Given the description of an element on the screen output the (x, y) to click on. 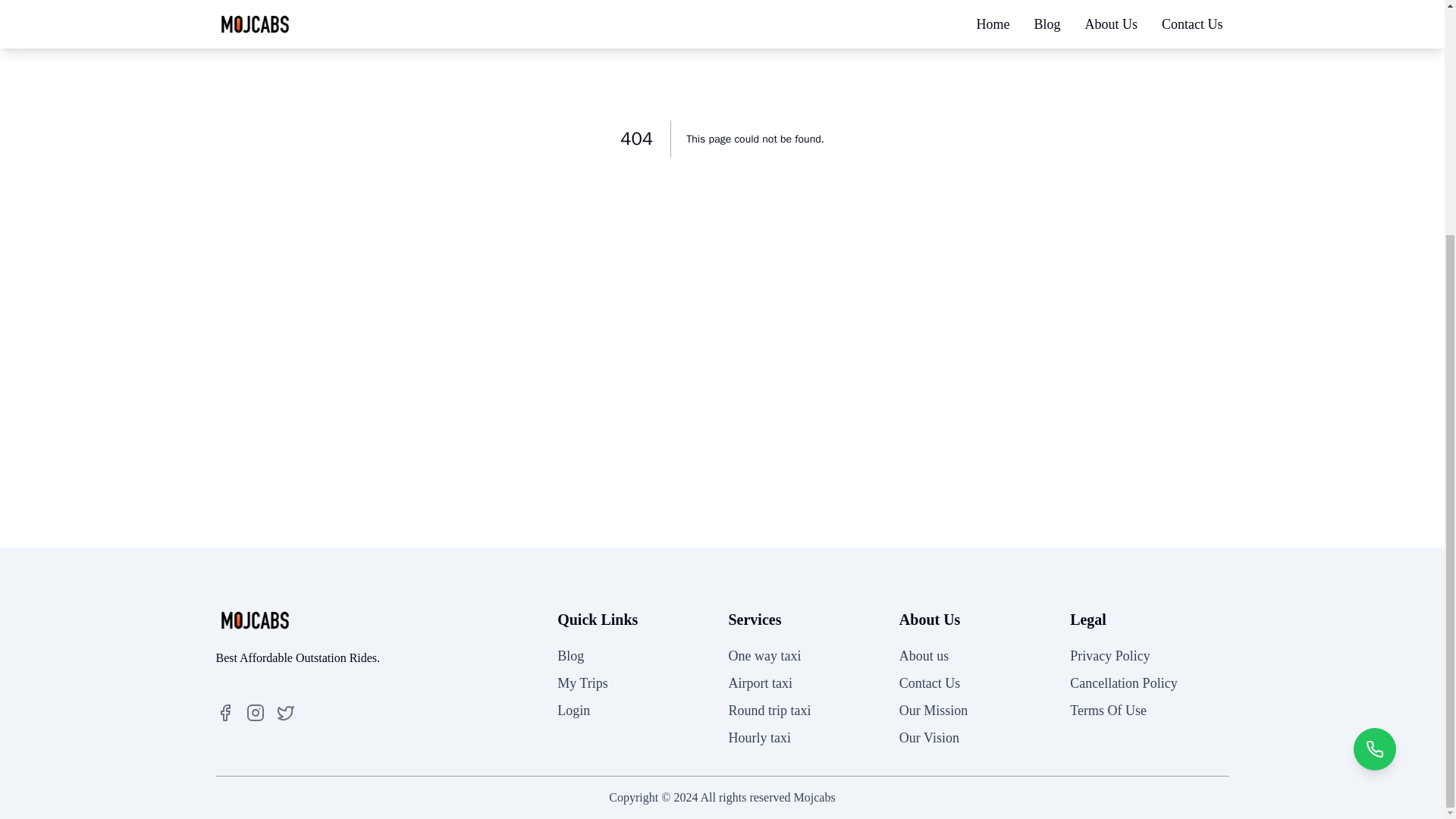
Cancellation Policy (1123, 683)
Our Vision (929, 737)
Our Mission (933, 710)
Terms Of Use (1108, 710)
Airport taxi (760, 683)
Round trip taxi (769, 710)
About us (924, 655)
My Trips (582, 683)
Hourly taxi (759, 737)
Blog (570, 655)
Privacy Policy (1110, 655)
Login (573, 710)
Contact Us (929, 683)
One way taxi (764, 655)
